Given the description of an element on the screen output the (x, y) to click on. 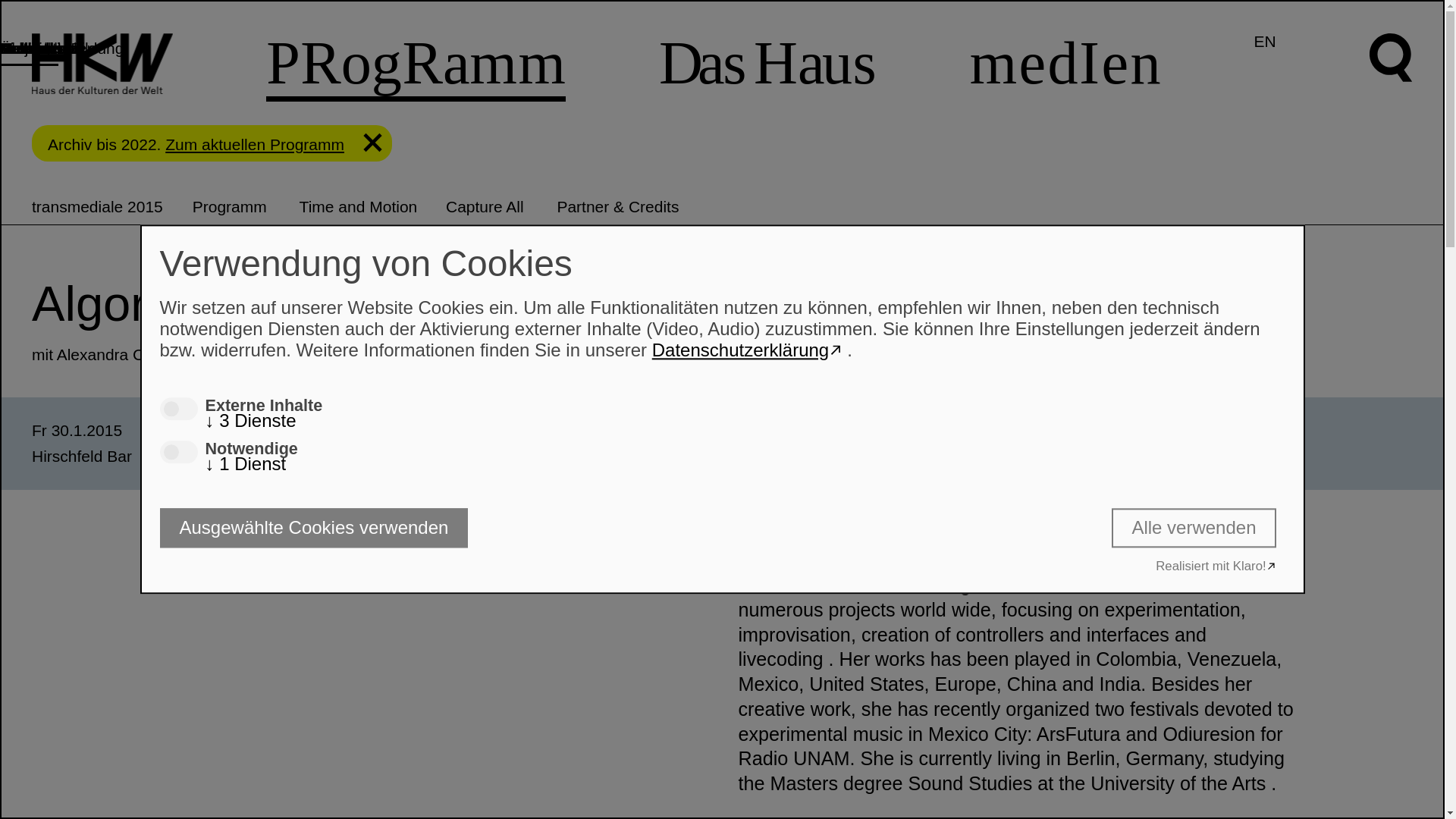
Das Haus (767, 62)
PRogRamm (416, 65)
Publikationen (48, 47)
Beitragende (42, 47)
Zum aktuellen Programm (254, 144)
Zum aktuellen Programm (254, 144)
transmediale 2015 (97, 206)
Kulturelle Bildung (61, 47)
Geschichte (40, 47)
EN (1264, 40)
Architektur (37, 47)
Time and Motion (358, 206)
Videos (24, 47)
Besuch (26, 47)
medIen (1064, 62)
